Given the description of an element on the screen output the (x, y) to click on. 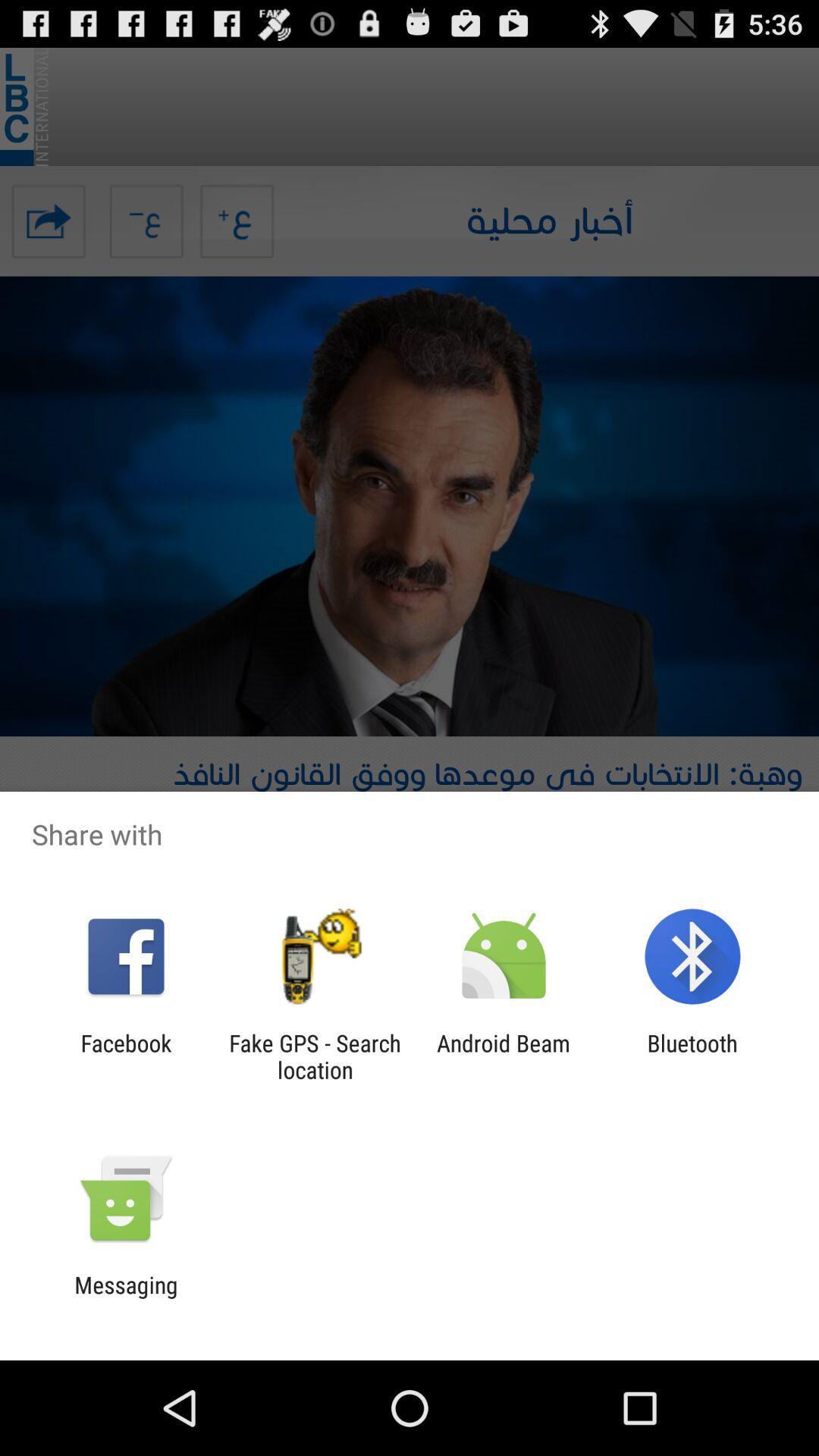
turn off icon to the left of the fake gps search (125, 1056)
